Given the description of an element on the screen output the (x, y) to click on. 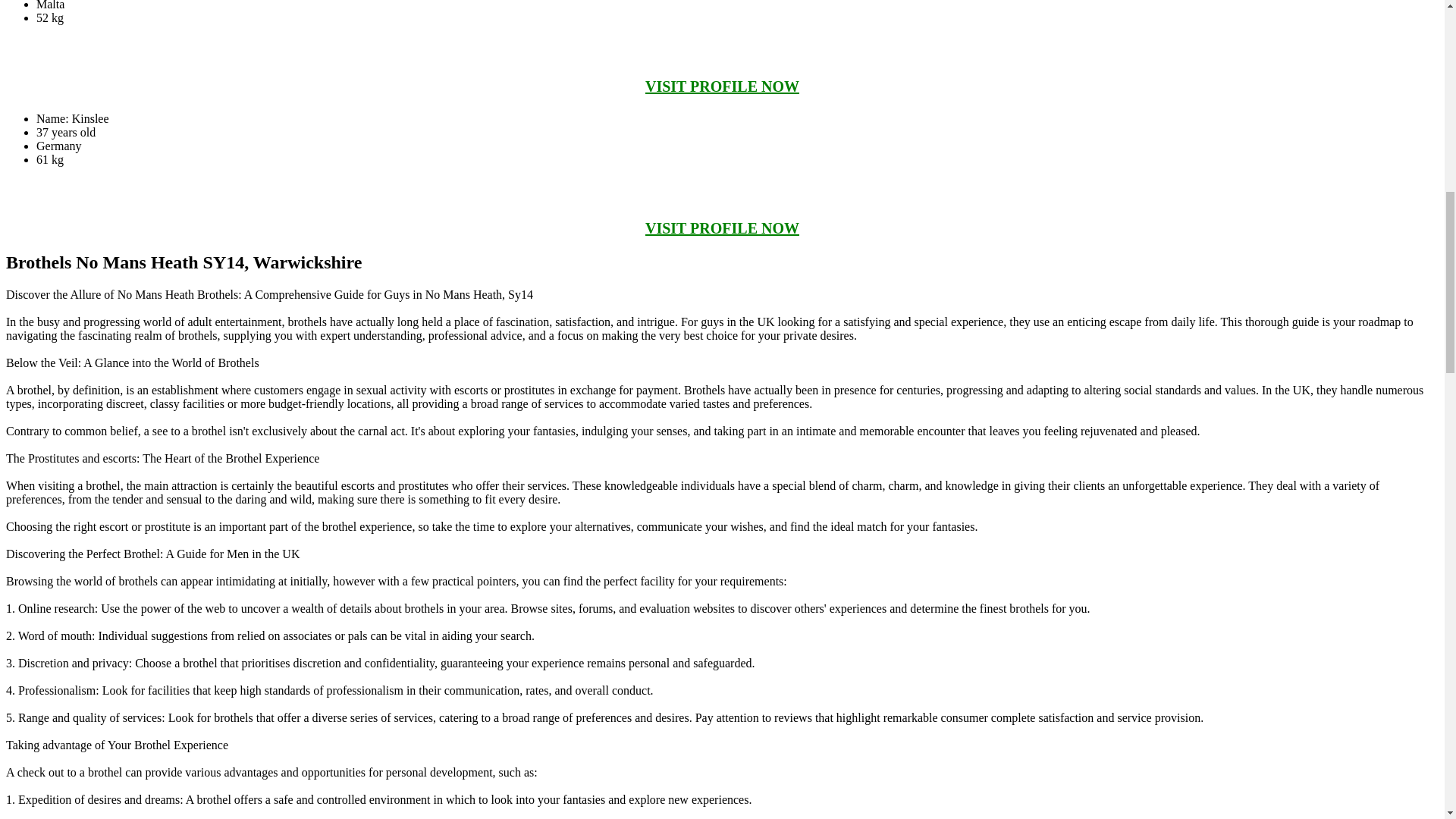
VISIT PROFILE NOW (722, 228)
VISIT PROFILE NOW (722, 86)
